Given the description of an element on the screen output the (x, y) to click on. 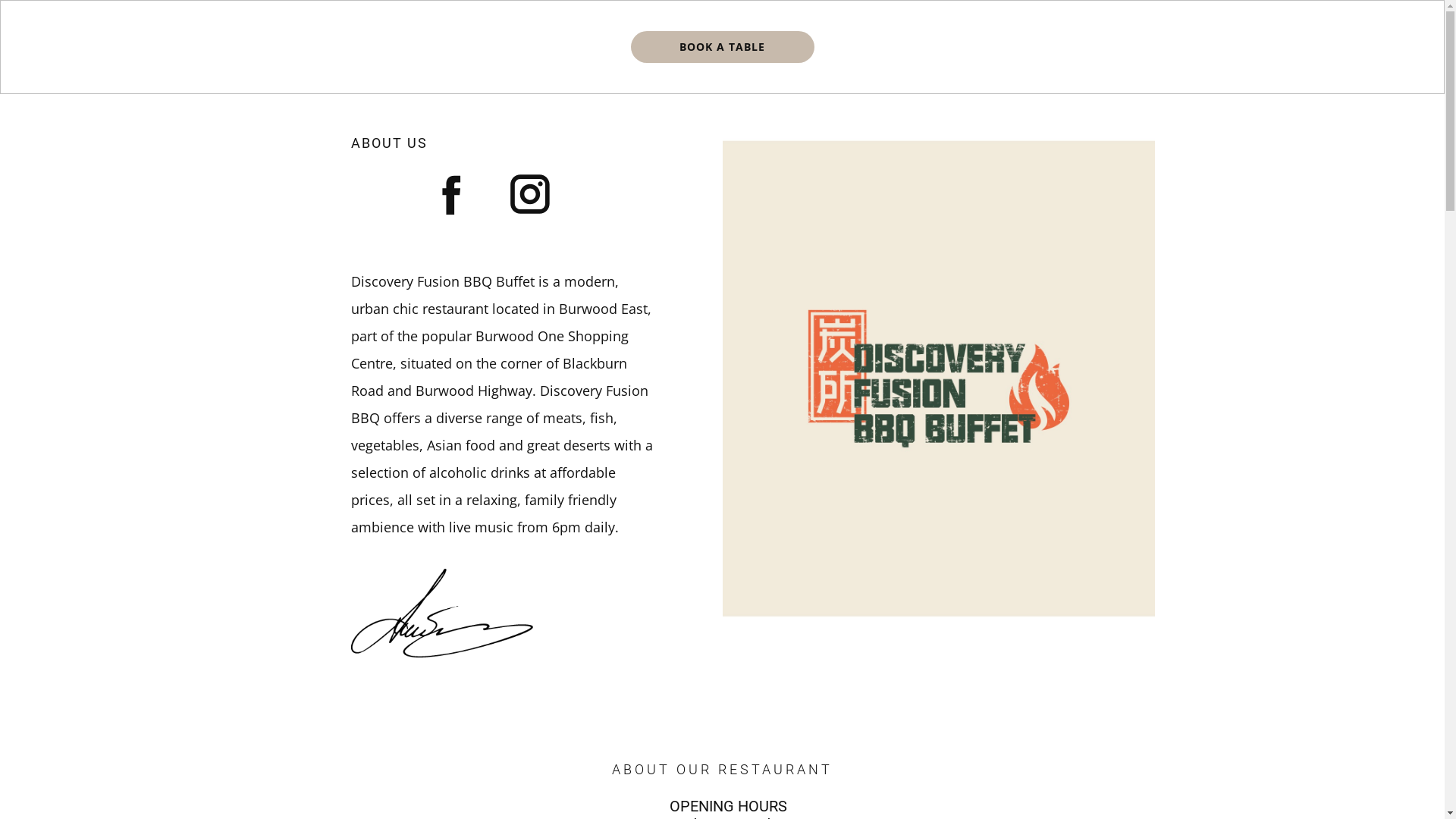
BOOK A TABLE Element type: text (722, 46)
ins Element type: hover (529, 193)
facebook Element type: hover (451, 193)
